Given the description of an element on the screen output the (x, y) to click on. 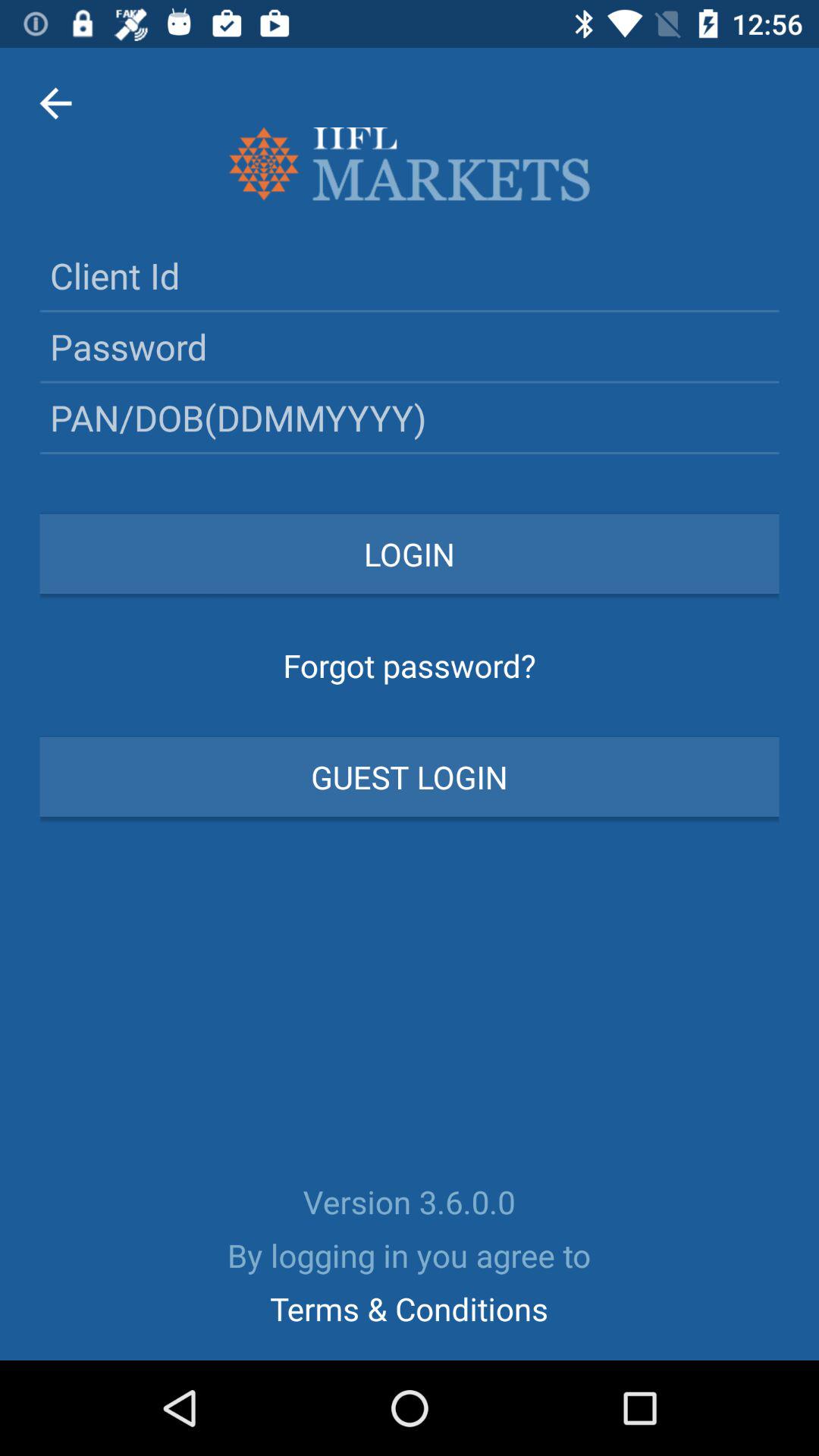
type in password (409, 346)
